Given the description of an element on the screen output the (x, y) to click on. 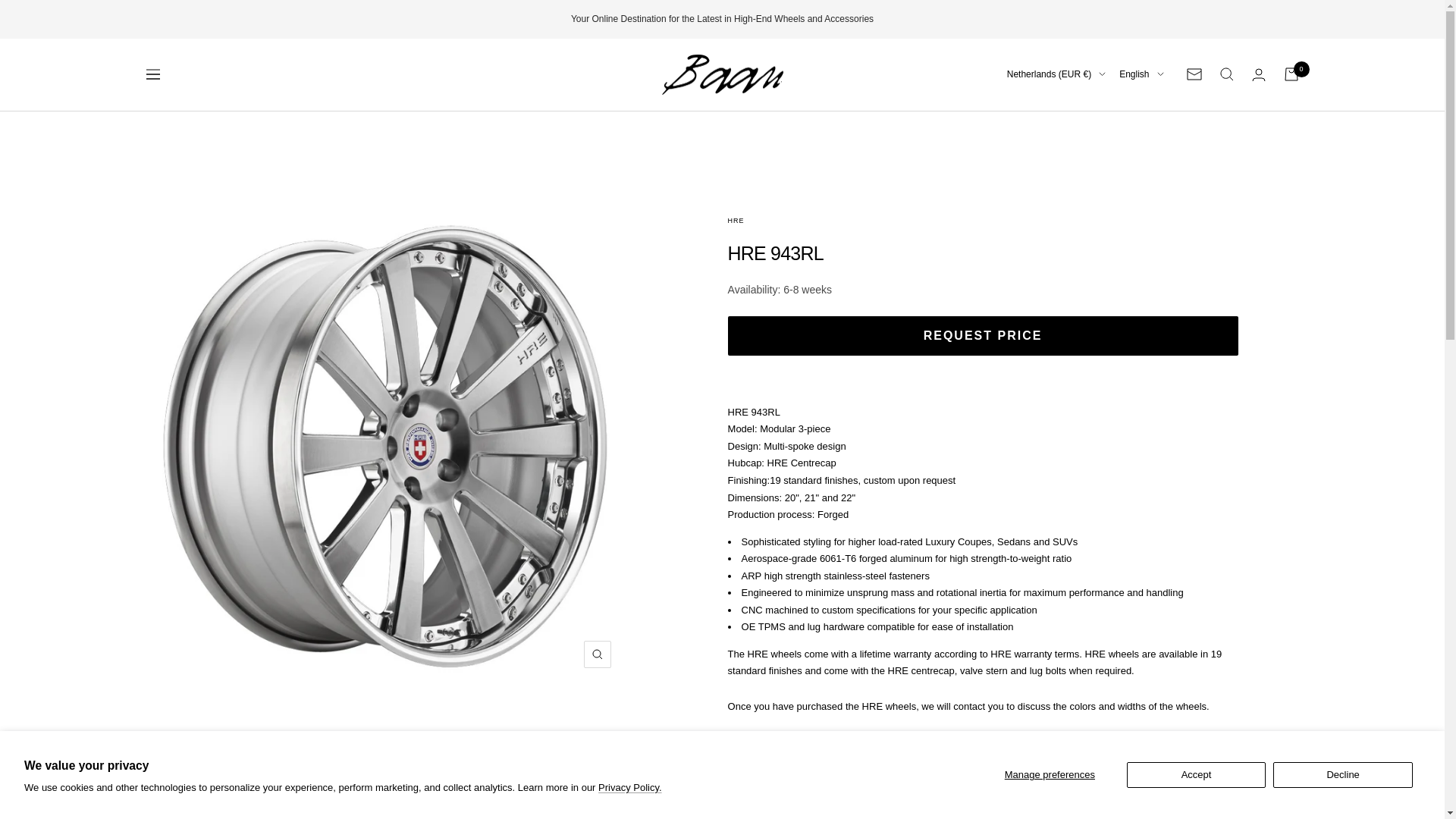
AZ (972, 437)
BO (972, 683)
BB (972, 527)
BZ (972, 594)
Navigation (151, 73)
Baan Velgen (722, 74)
Manage preferences (1049, 774)
DZ (972, 190)
BD (972, 505)
BH (972, 482)
AF (972, 124)
BT (972, 661)
AM (972, 325)
AL (972, 169)
BA (972, 705)
